Given the description of an element on the screen output the (x, y) to click on. 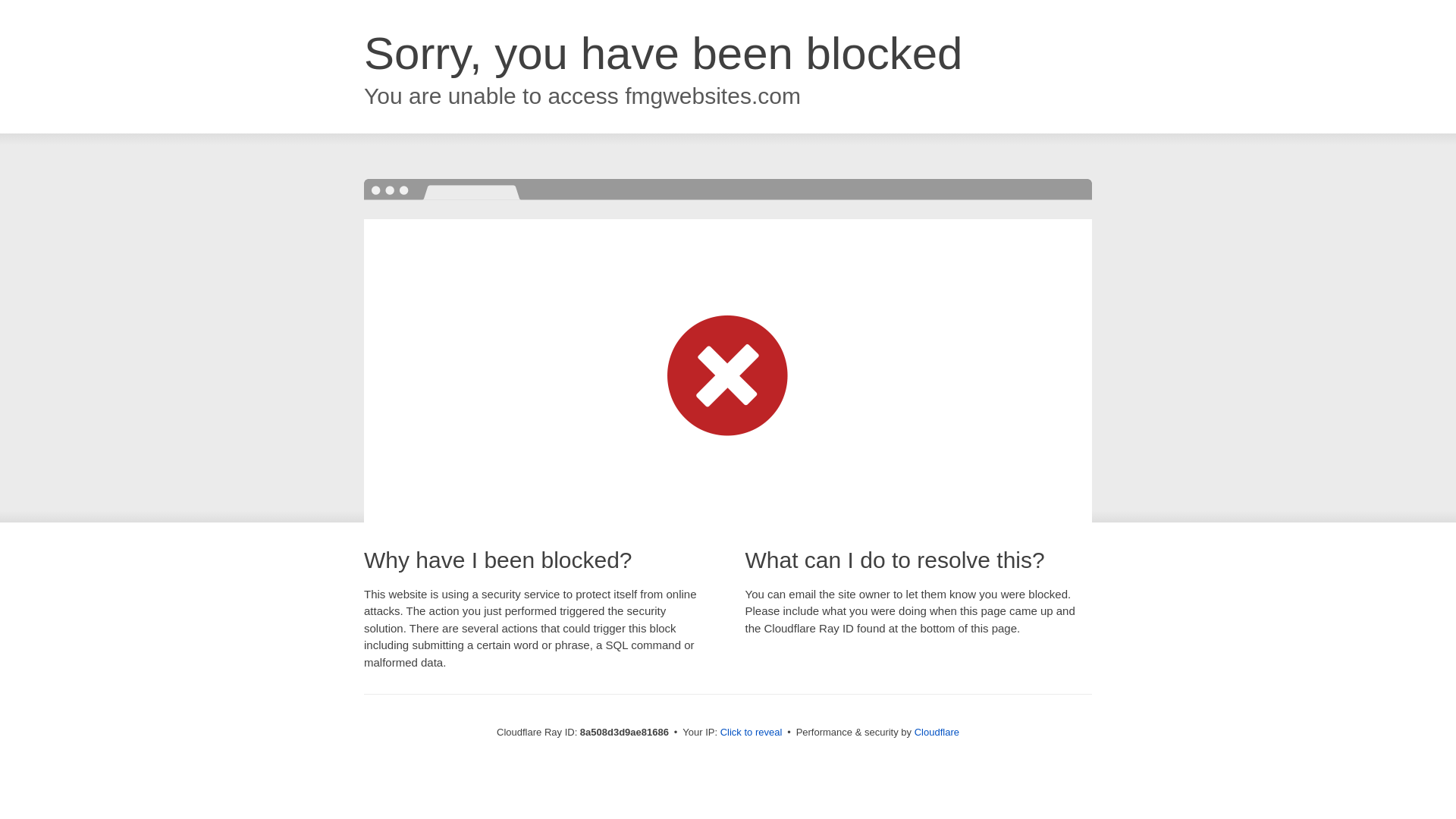
Click to reveal (751, 732)
Cloudflare (936, 731)
